Given the description of an element on the screen output the (x, y) to click on. 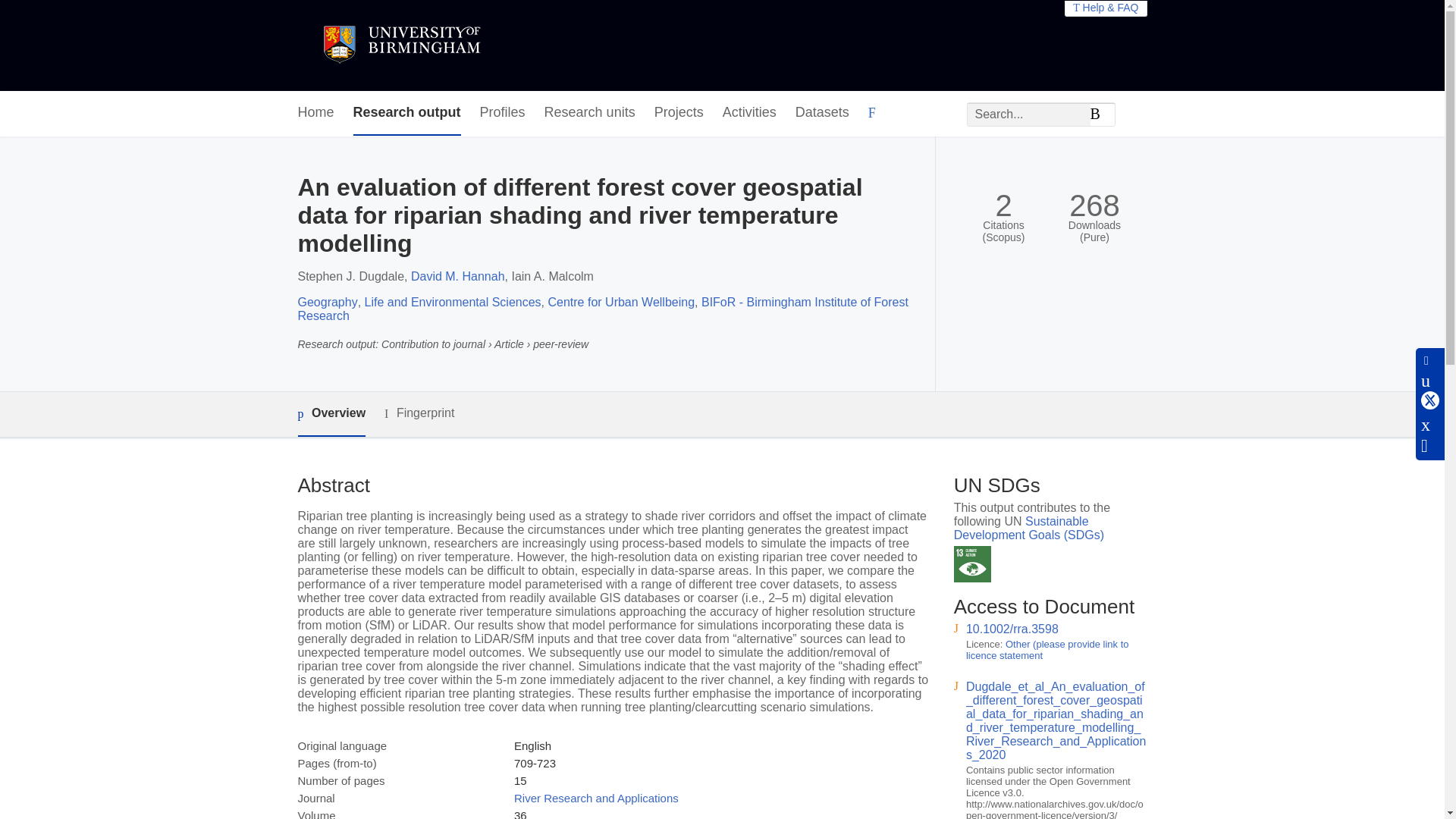
Projects (678, 112)
Life and Environmental Sciences (453, 301)
River Research and Applications (595, 797)
Centre for Urban Wellbeing (620, 301)
Research output (407, 112)
David M. Hannah (457, 276)
Fingerprint (419, 413)
SDG 13 - Climate Action (972, 564)
Overview (331, 414)
Activities (749, 112)
